Given the description of an element on the screen output the (x, y) to click on. 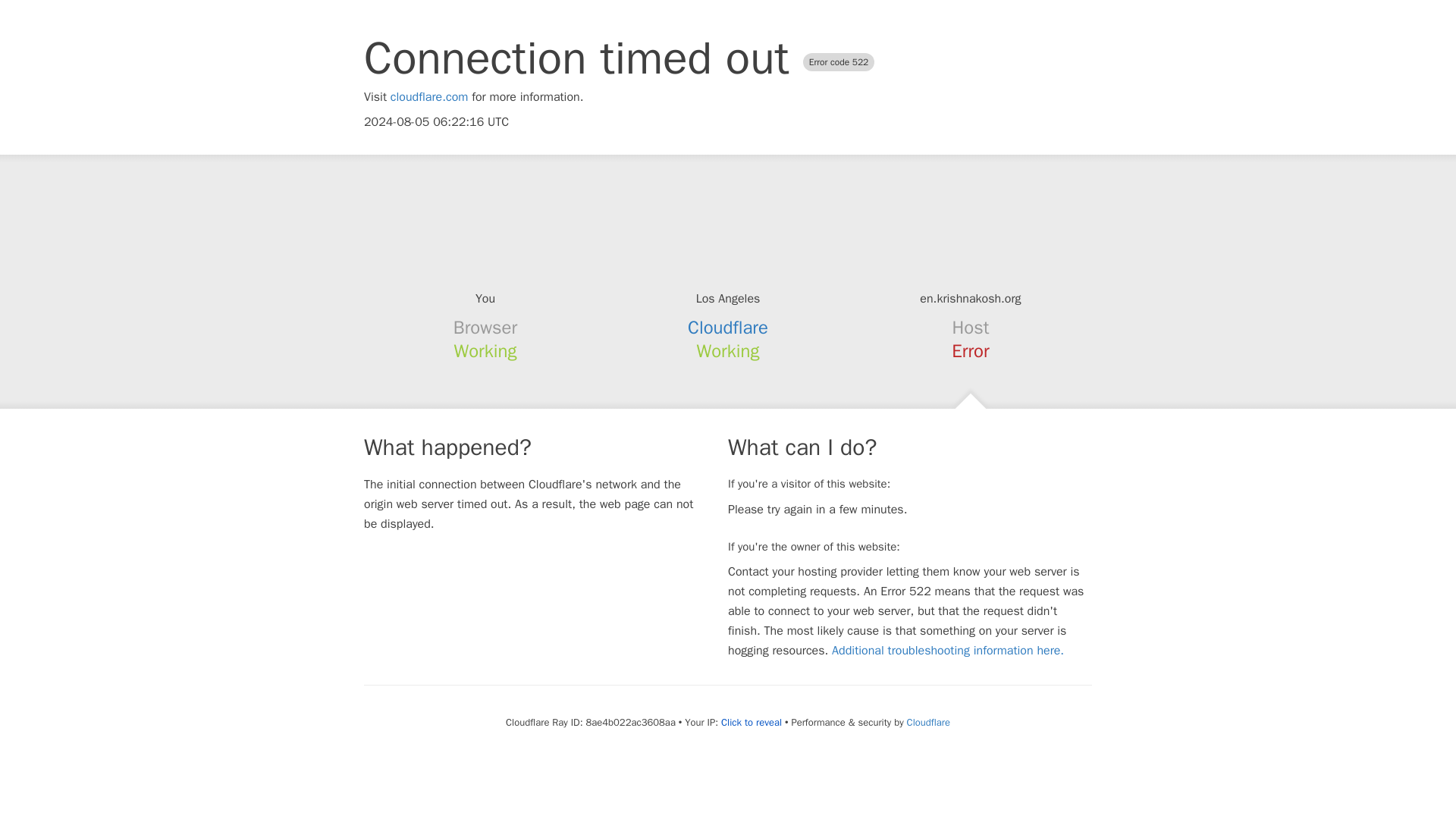
Additional troubleshooting information here. (947, 650)
cloudflare.com (429, 96)
Click to reveal (750, 722)
Cloudflare (928, 721)
Cloudflare (727, 327)
